Given the description of an element on the screen output the (x, y) to click on. 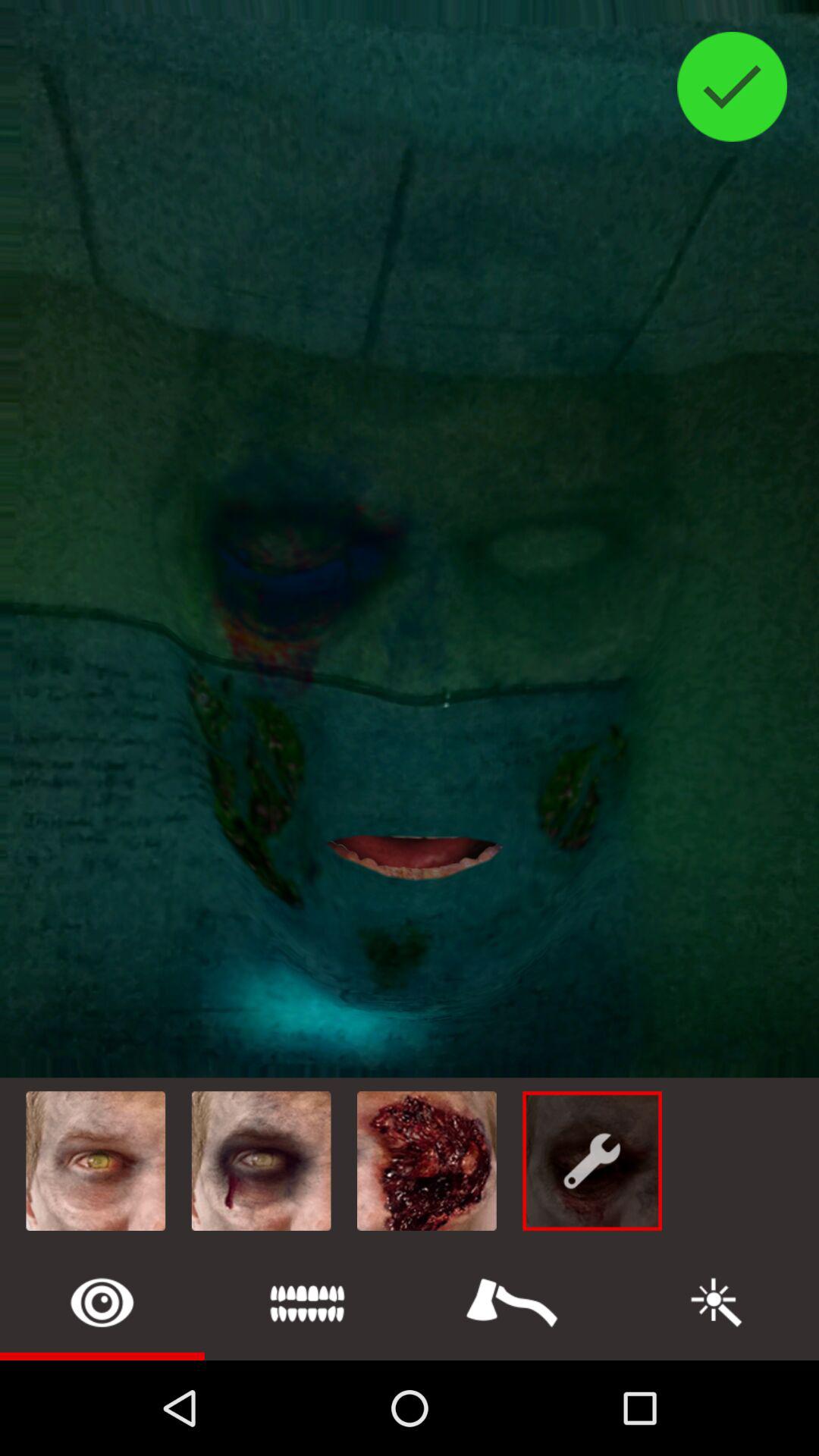
the effects option (716, 1302)
